Given the description of an element on the screen output the (x, y) to click on. 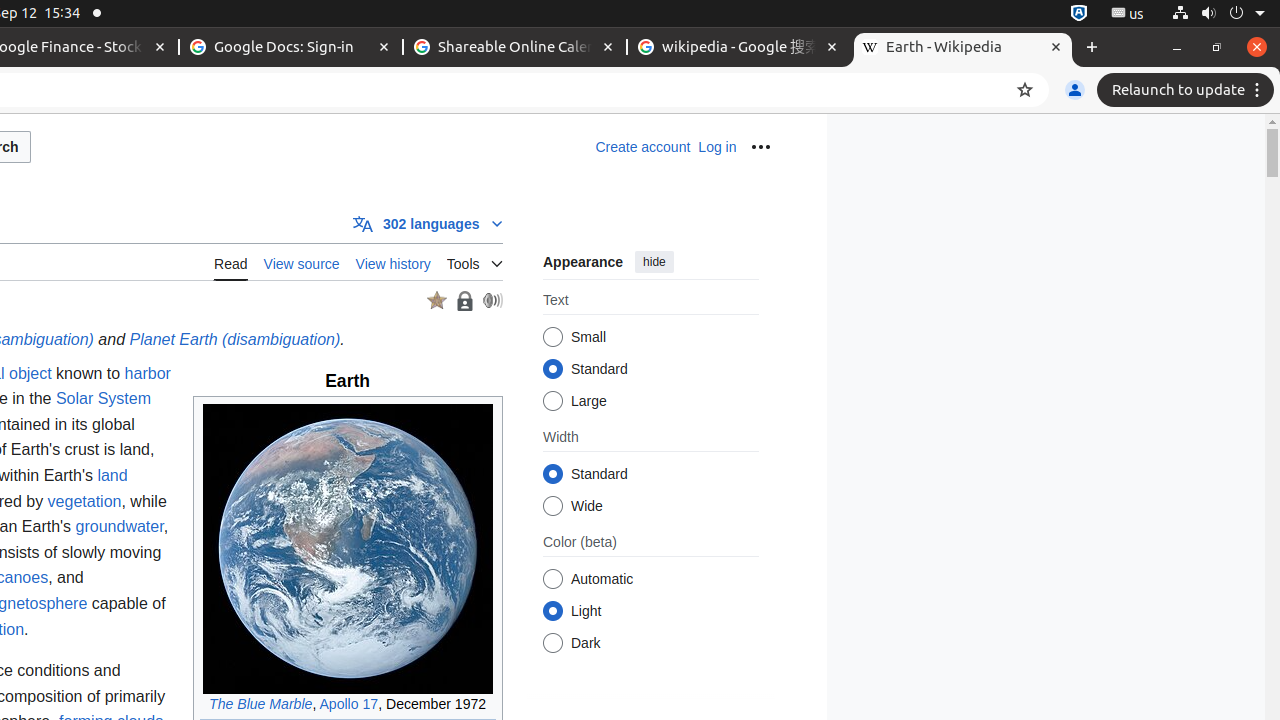
Personal tools Element type: push-button (760, 147)
Planet Earth (disambiguation) Element type: link (235, 340)
Page semi-protected Element type: link (464, 300)
:1.72/StatusNotifierItem Element type: menu (1079, 13)
Dark Element type: radio-button (552, 643)
